Given the description of an element on the screen output the (x, y) to click on. 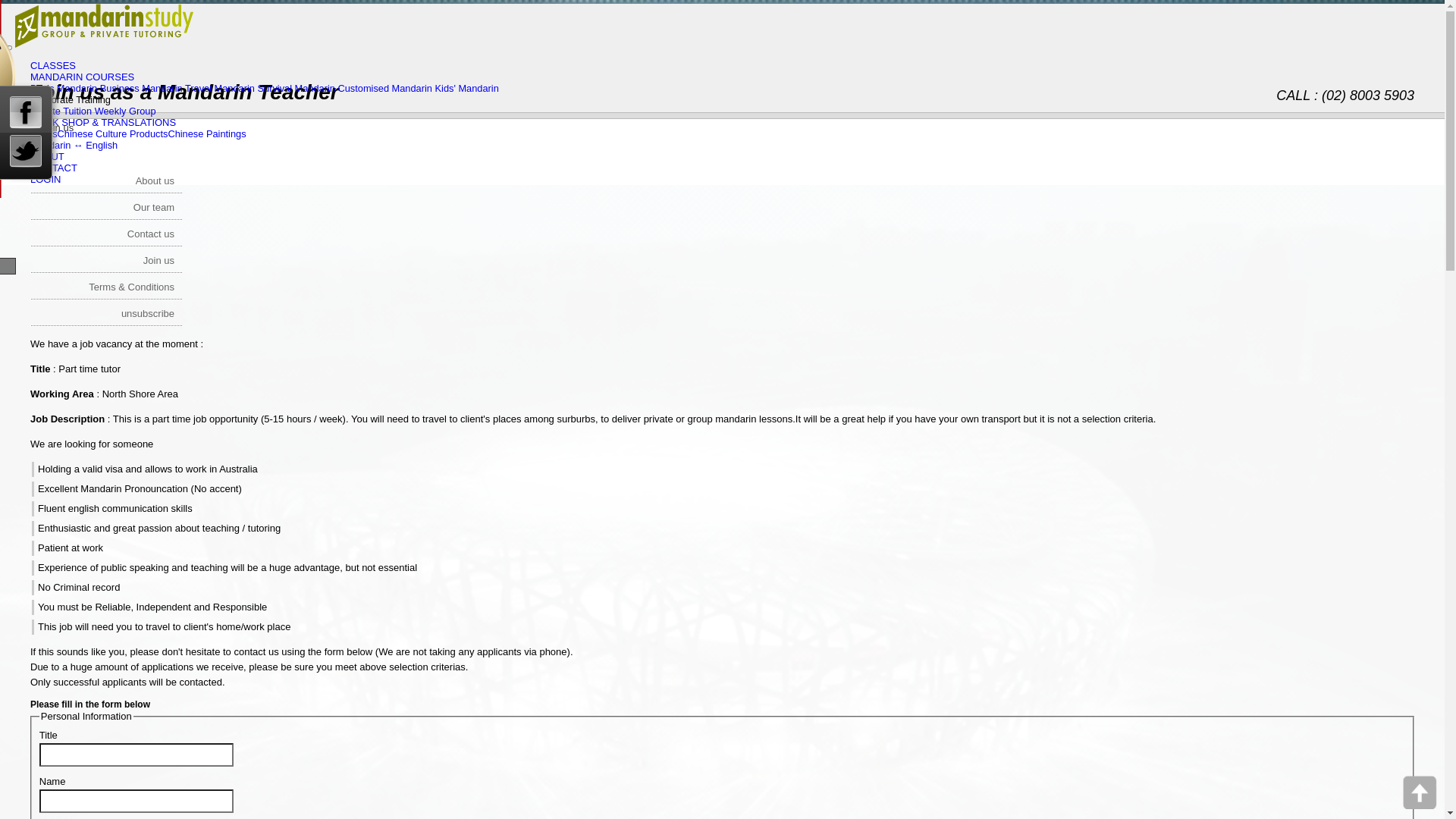
Books Element type: text (43, 133)
Kids' Mandarin Element type: text (466, 88)
Business Mandarin Element type: text (141, 88)
Private Tuition Element type: text (60, 110)
unsubscribe Element type: text (106, 313)
Contact us Element type: text (106, 233)
LOGIN Element type: text (45, 179)
CONTACT Element type: text (53, 167)
Weekly Group Element type: text (125, 110)
MANDARIN COURSES Element type: text (82, 76)
Join us Element type: text (57, 127)
CLASSES Element type: text (52, 65)
About us Element type: text (106, 180)
Basic Mandarin Element type: text (63, 88)
ABOUT Element type: text (47, 156)
Chinese Culture Products Element type: text (112, 133)
Terms & Conditions Element type: text (106, 286)
Customised Mandarin Element type: text (384, 88)
Our team Element type: text (106, 207)
Join us Element type: text (106, 260)
Travel Mandarin Element type: text (219, 88)
Survival Mandarin Element type: text (295, 88)
Chinese Paintings Element type: text (206, 133)
BOOK SHOP & TRANSLATIONS Element type: text (102, 122)
